Given the description of an element on the screen output the (x, y) to click on. 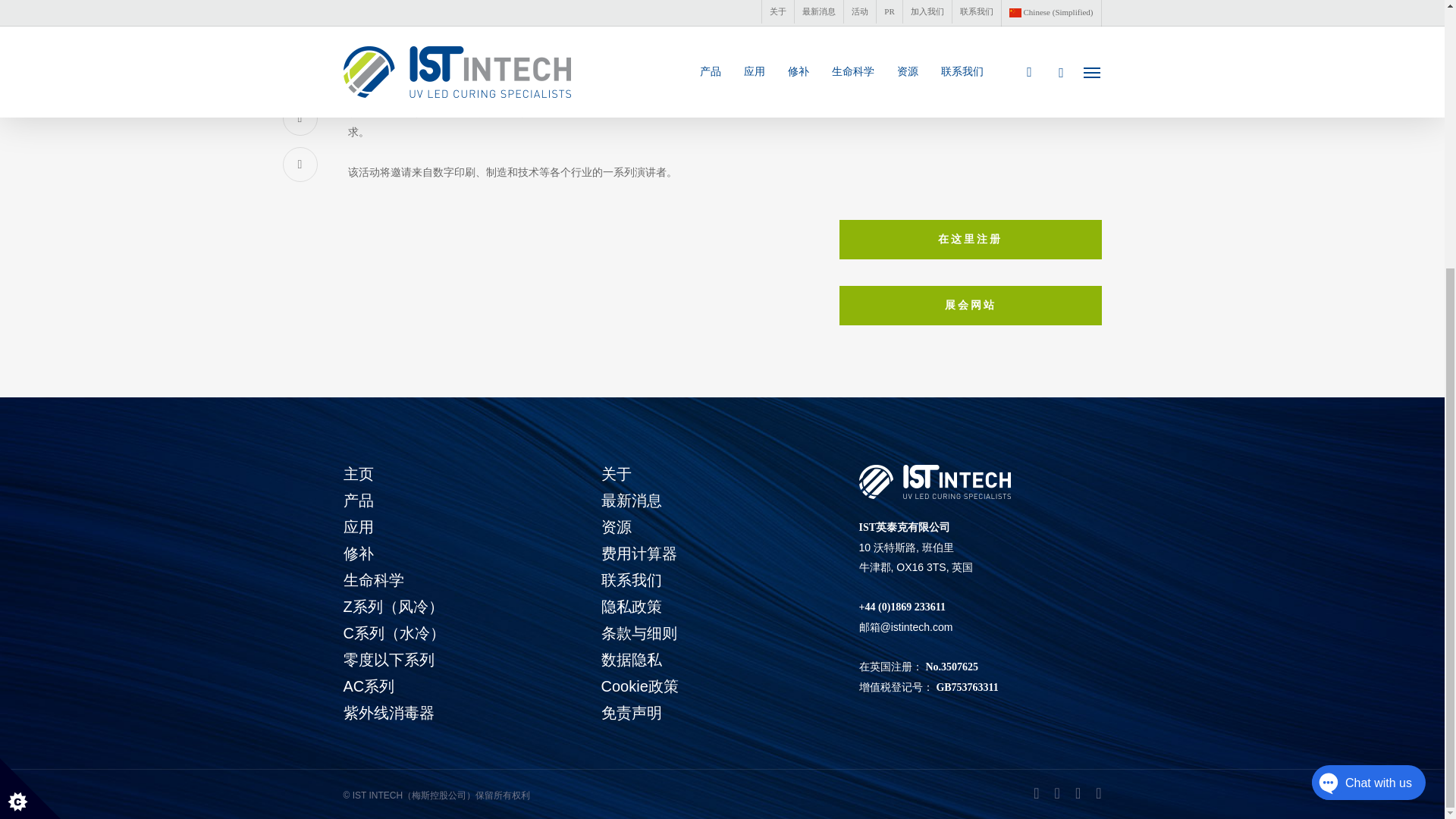
Chat with us (1353, 395)
